Given the description of an element on the screen output the (x, y) to click on. 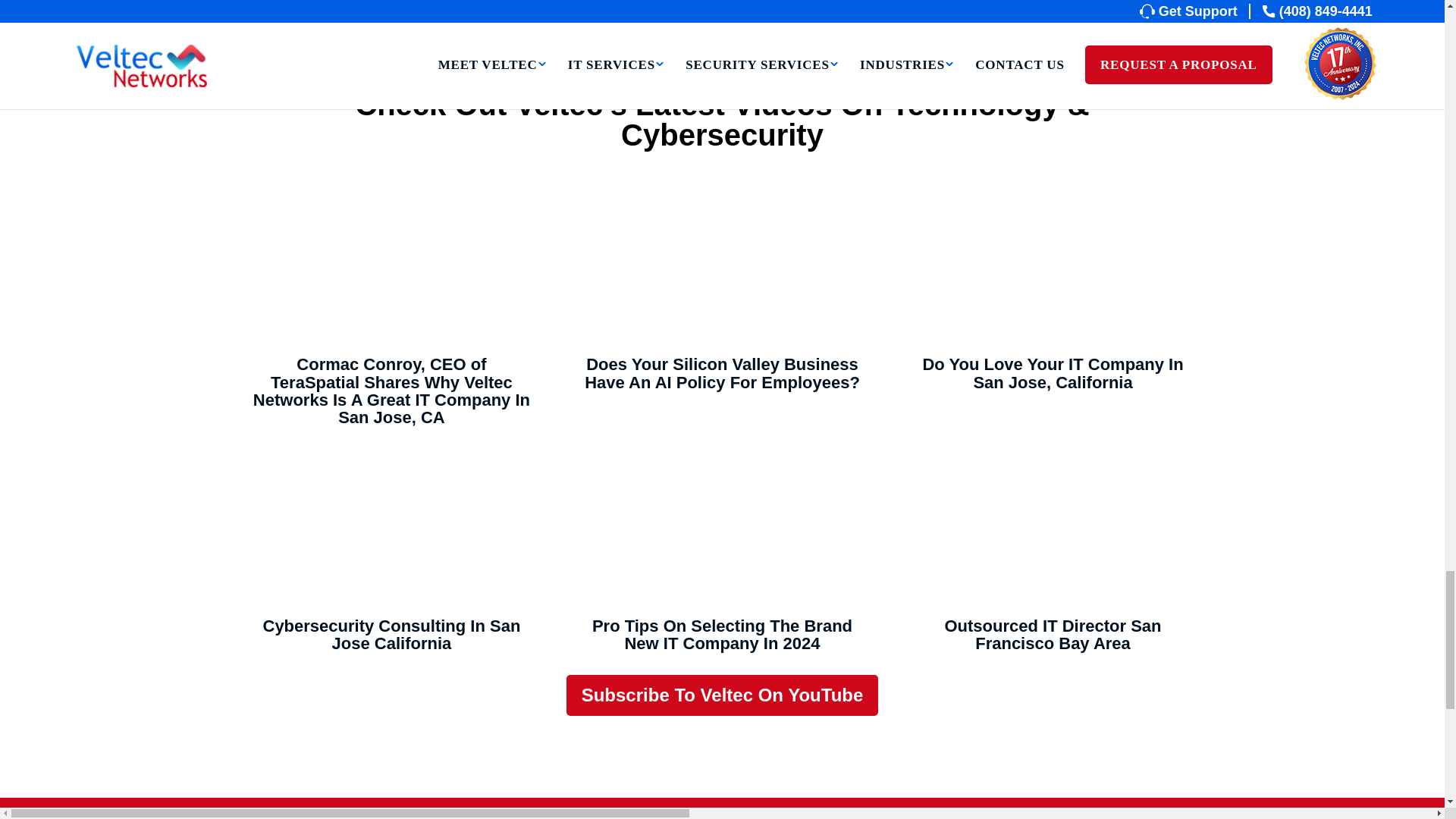
Cybersecurity Consulting In San Jose California (391, 527)
Pro Tips On Selecting The Brand New IT Company In 2024 (722, 527)
Outsourced IT Director San Francisco Bay Area (1053, 527)
Do You Love Your IT Company In San Jose, California (1053, 266)
